Given the description of an element on the screen output the (x, y) to click on. 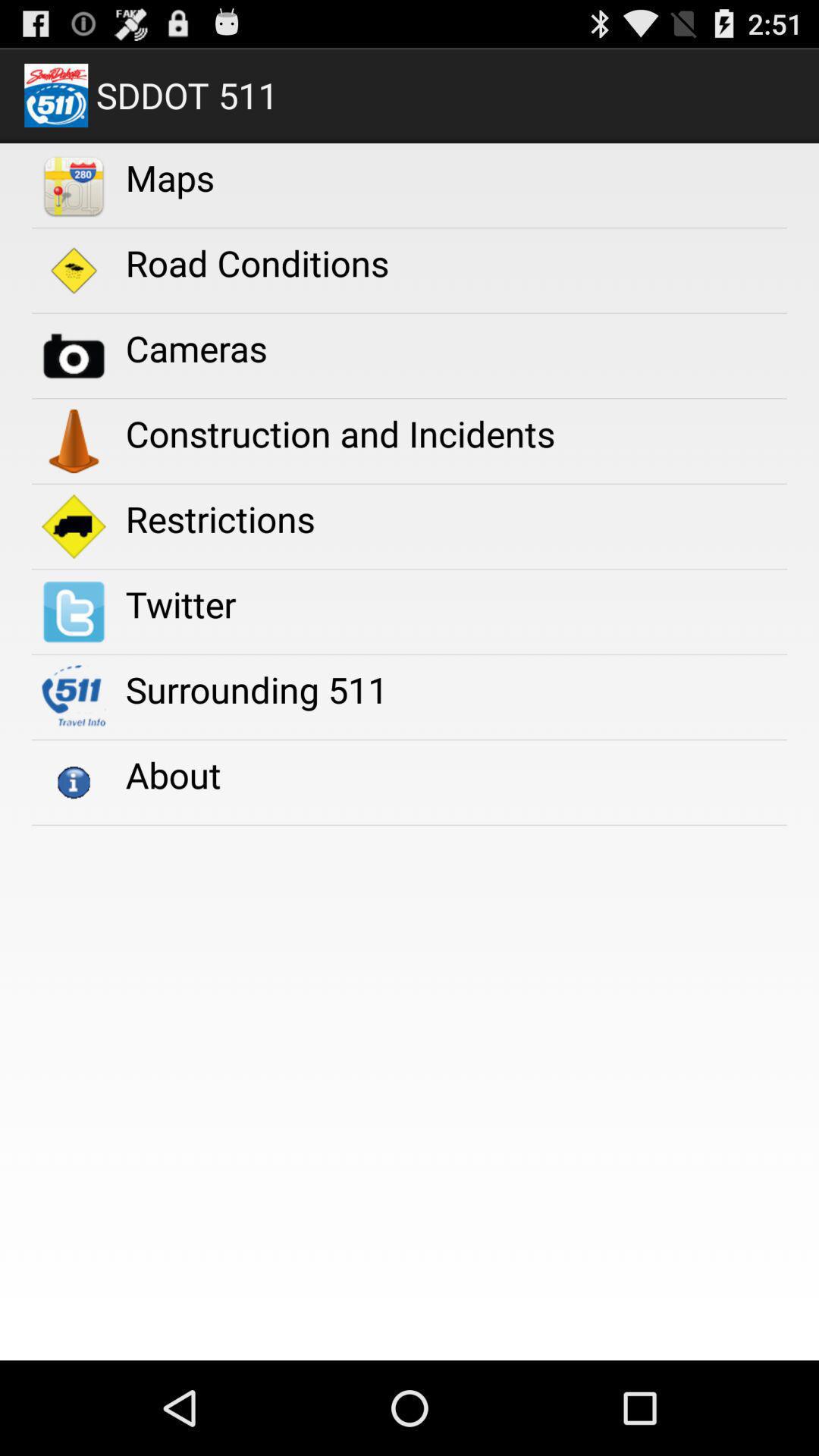
click app below sddot 511 icon (169, 177)
